Given the description of an element on the screen output the (x, y) to click on. 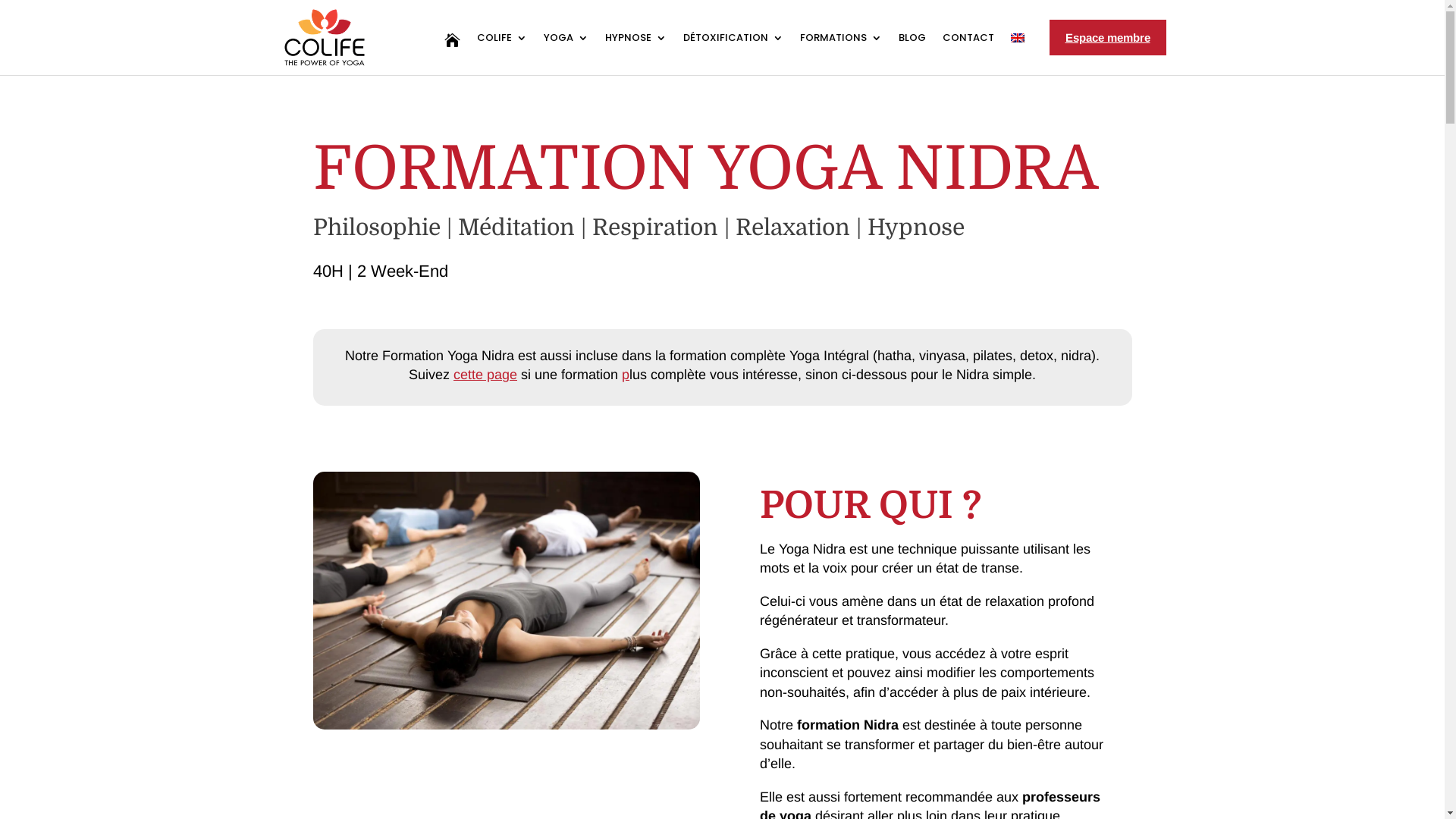
logo-colife-yoga-geneve Element type: hover (324, 37)
p Element type: text (625, 374)
COLIFE Element type: text (501, 40)
FORMATIONS Element type: text (840, 40)
Espace membre Element type: text (1107, 37)
cette page Element type: text (485, 374)
YOGA Element type: text (565, 40)
Formation Yoga Nidra Geneve Element type: hover (505, 600)
HYPNOSE Element type: text (635, 40)
BLOG Element type: text (911, 40)
CONTACT Element type: text (968, 40)
